Given the description of an element on the screen output the (x, y) to click on. 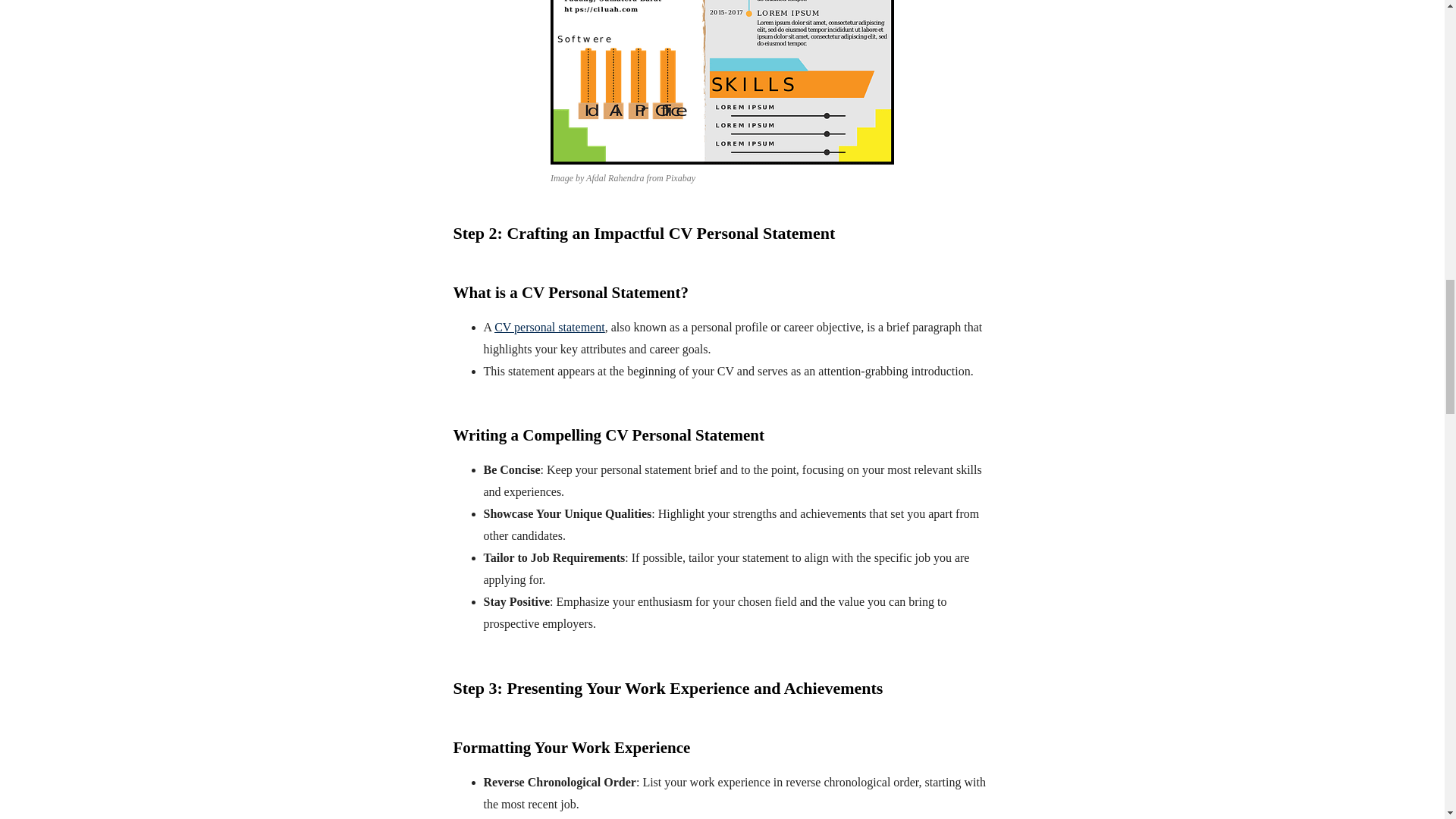
CV personal statement (549, 327)
